Given the description of an element on the screen output the (x, y) to click on. 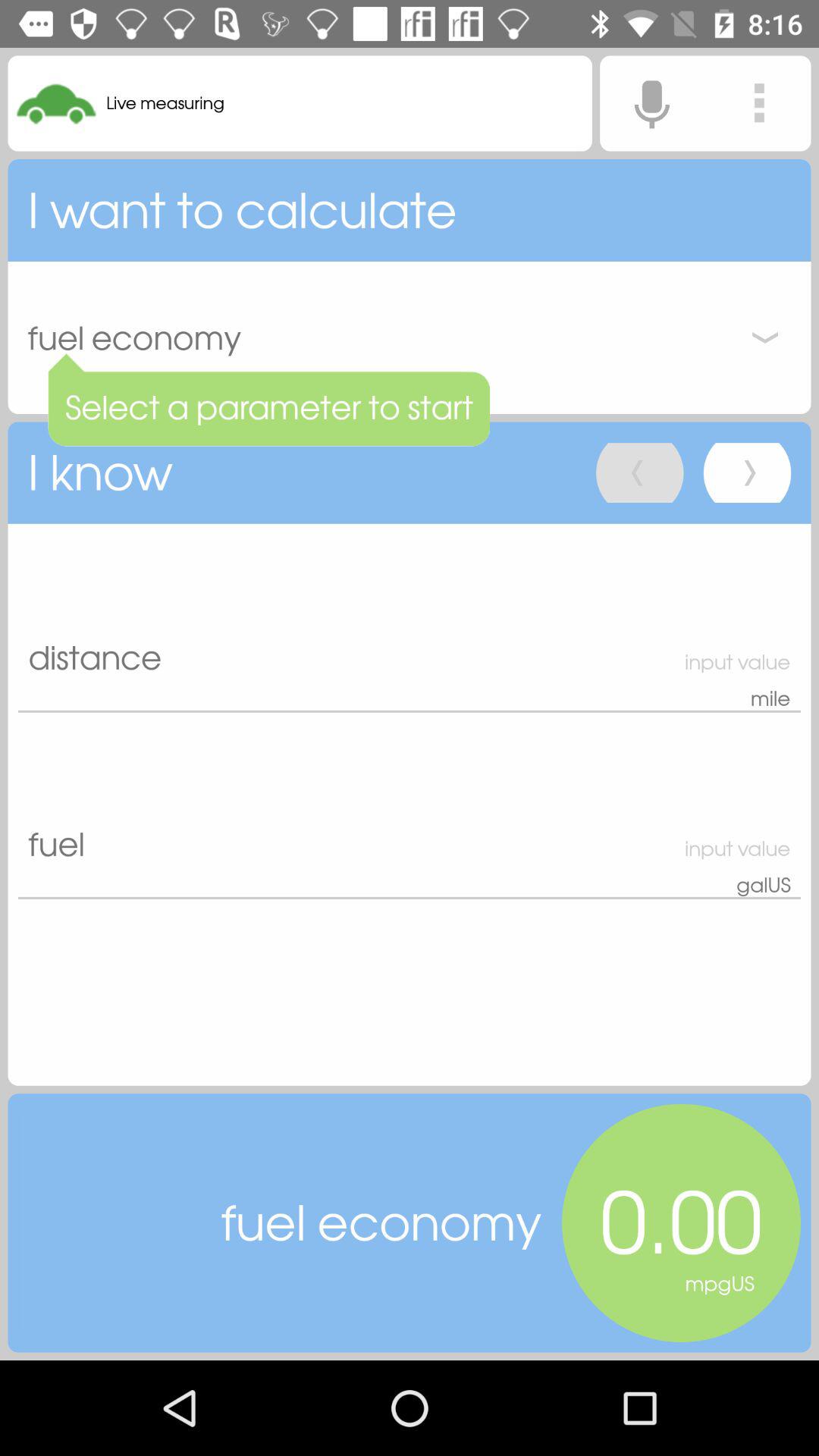
share the article (759, 103)
